Given the description of an element on the screen output the (x, y) to click on. 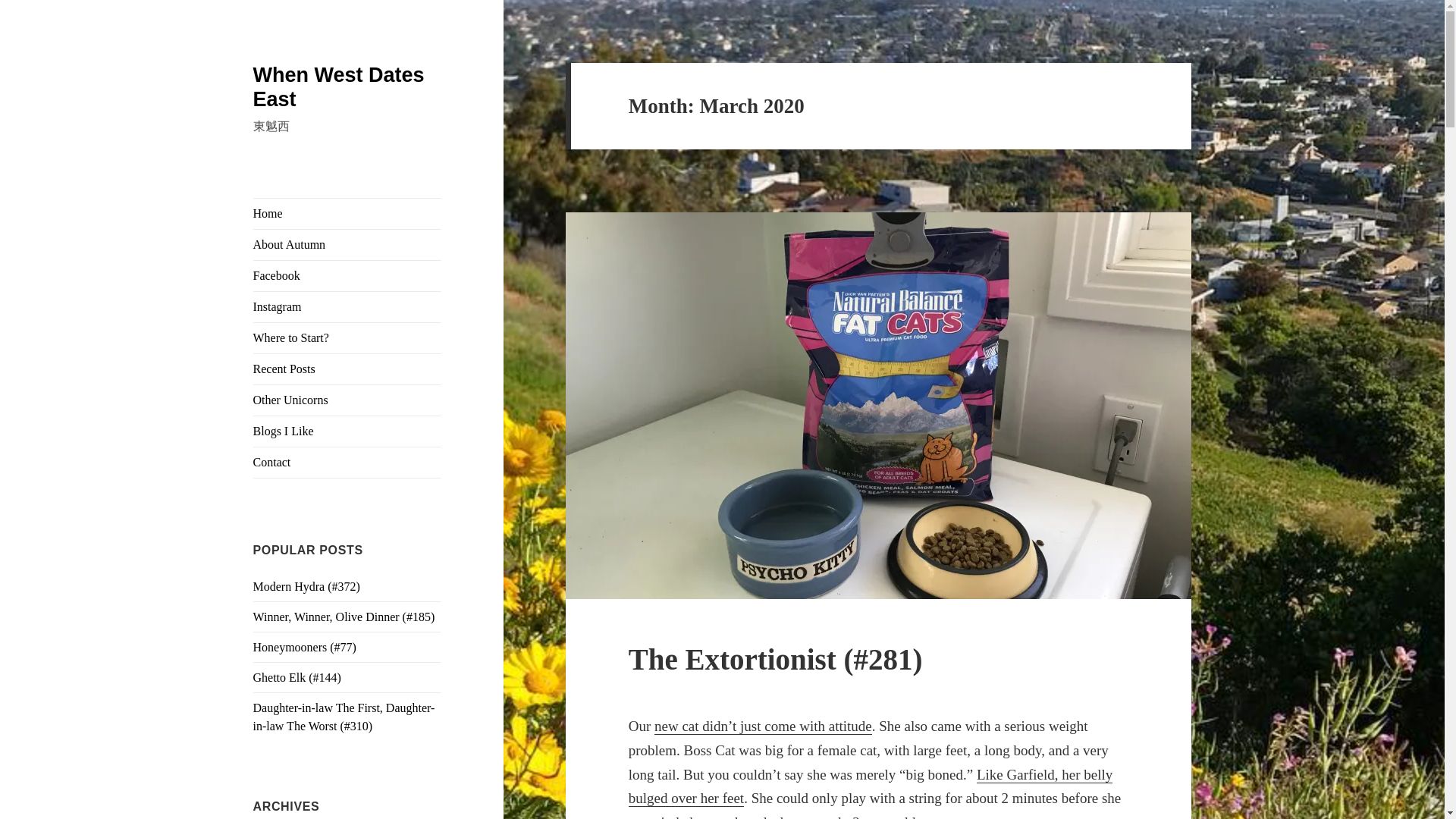
Where to Start? (347, 337)
Contact (347, 462)
Home (347, 214)
Other Unicorns (347, 399)
Recent Posts (347, 368)
When West Dates East (339, 86)
About Autumn (347, 245)
Facebook (347, 276)
Blogs I Like (347, 431)
Instagram (347, 306)
